Given the description of an element on the screen output the (x, y) to click on. 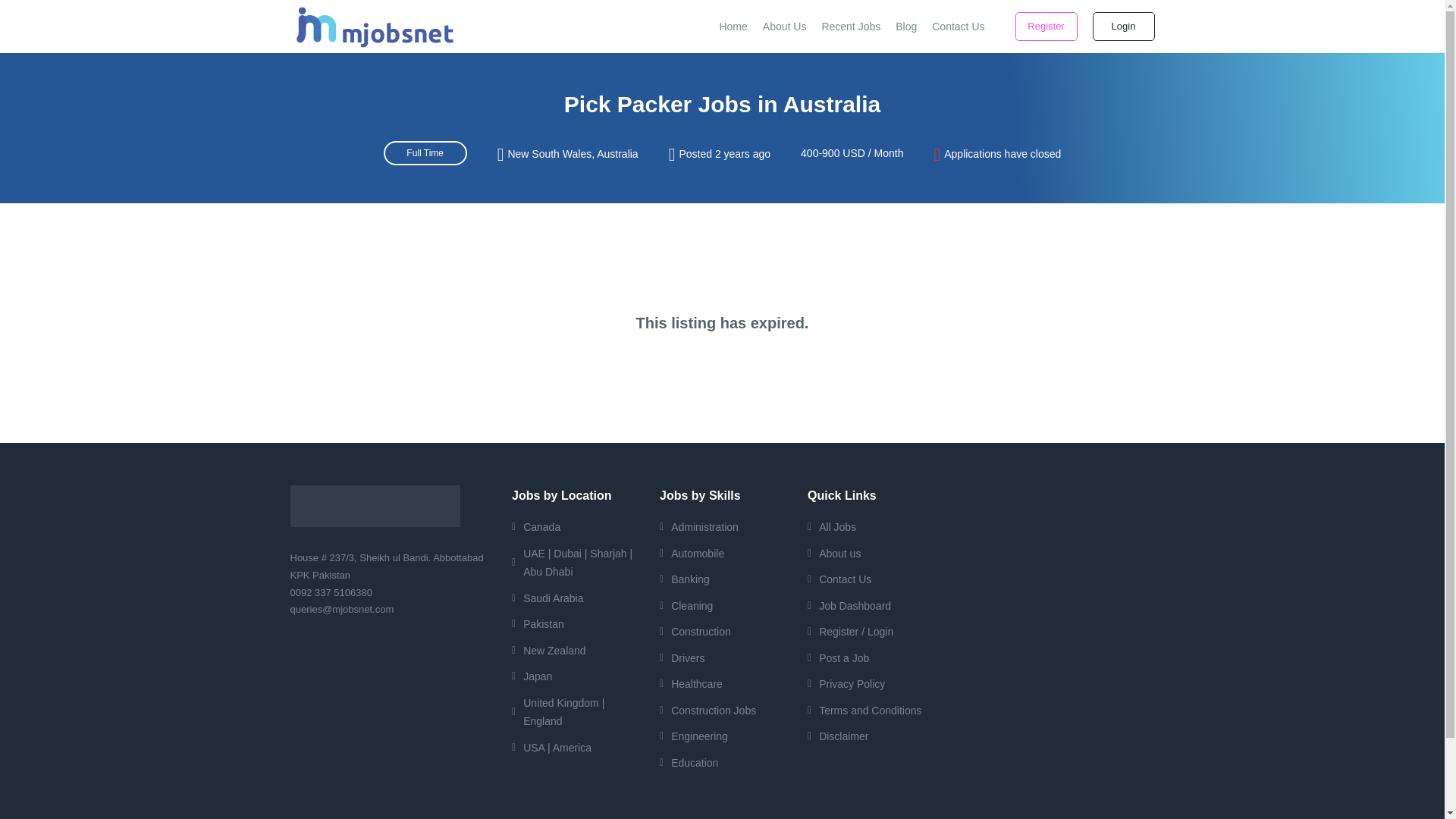
Saudi Arabia (579, 597)
Construction (727, 631)
Automobile (727, 553)
Canada (579, 527)
Administration (727, 527)
Login (1123, 26)
Healthcare (727, 683)
Education (727, 763)
Cleaning (727, 605)
Pakistan (579, 624)
